Given the description of an element on the screen output the (x, y) to click on. 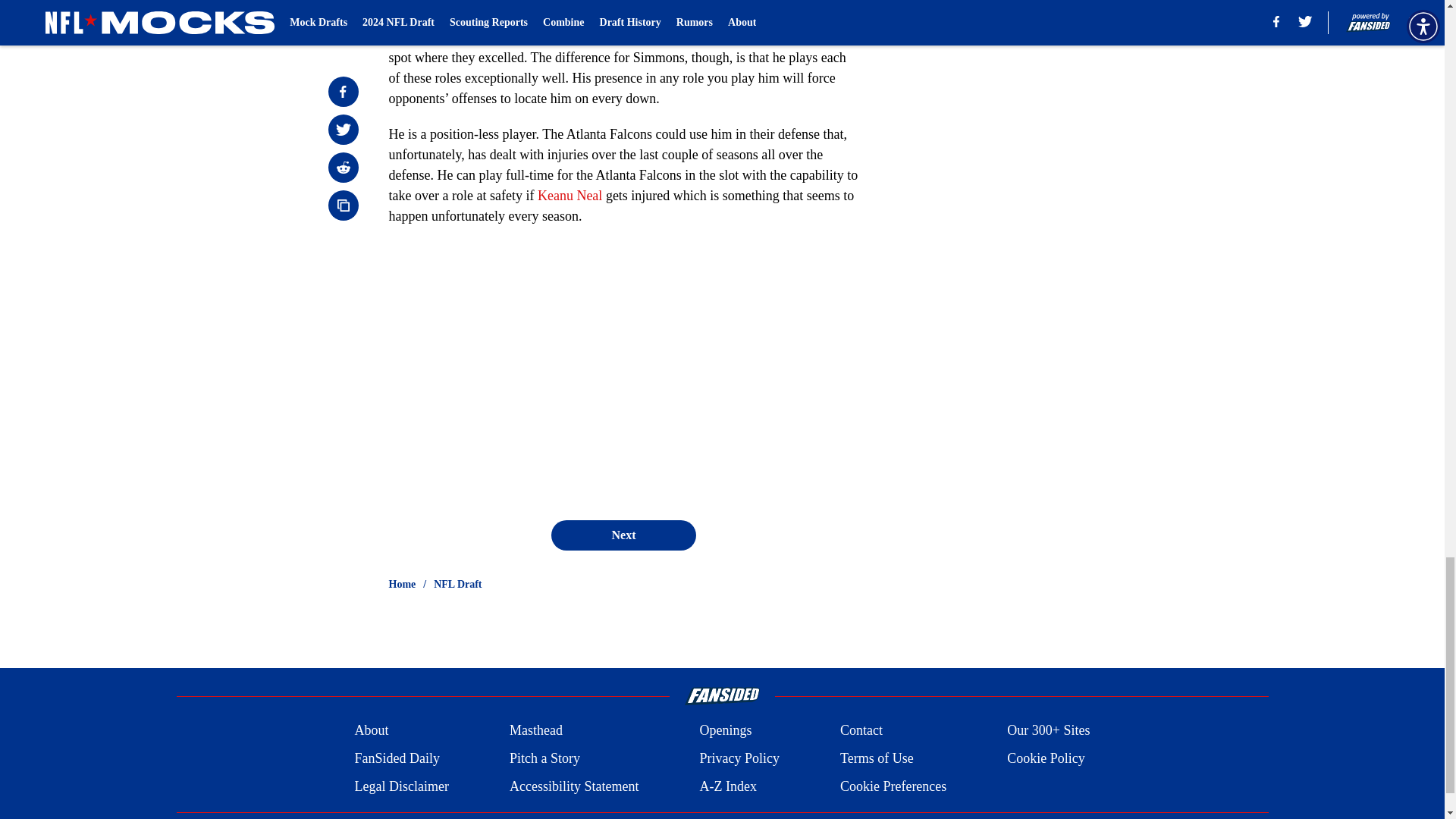
Home (401, 584)
Jabrill Peppers (746, 16)
FanSided Daily (396, 758)
About (370, 730)
Contact (861, 730)
Next (622, 535)
NFL Draft (457, 584)
Openings (724, 730)
Pitch a Story (544, 758)
Privacy Policy (738, 758)
Keanu Neal (569, 195)
Masthead (535, 730)
